Given the description of an element on the screen output the (x, y) to click on. 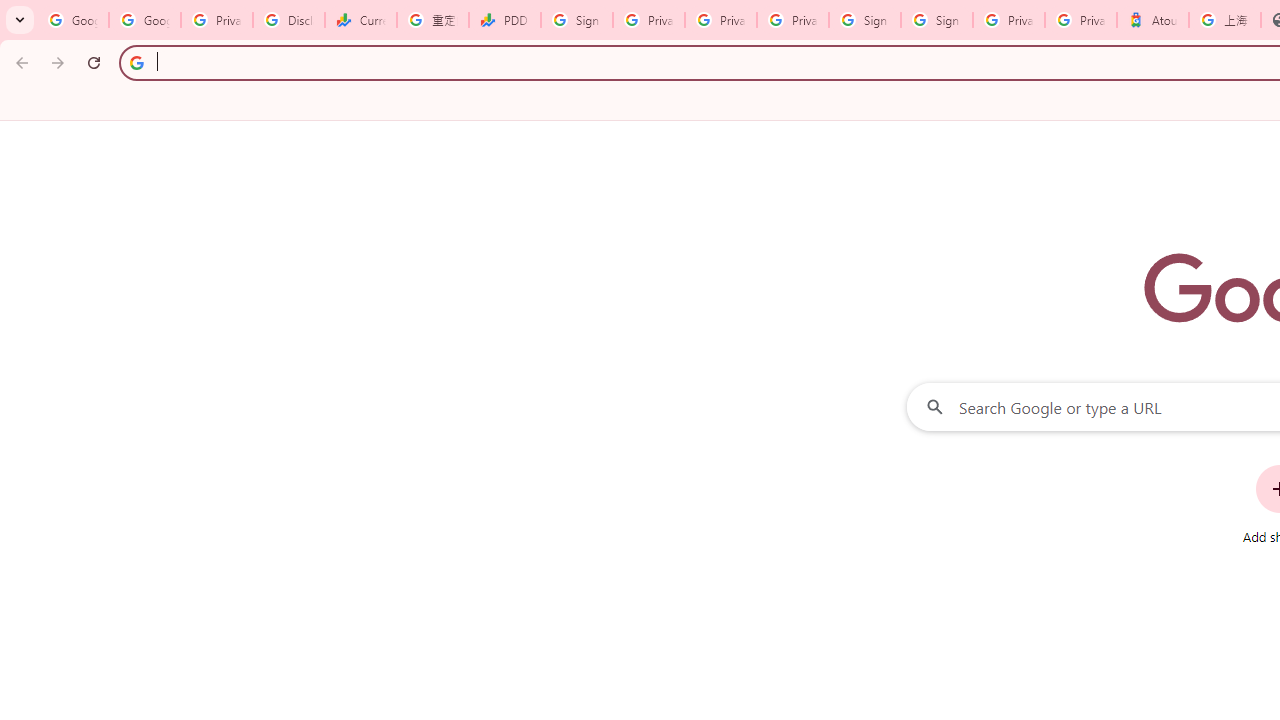
Atour Hotel - Google hotels (1153, 20)
Privacy Checkup (720, 20)
PDD Holdings Inc - ADR (PDD) Price & News - Google Finance (504, 20)
Sign in - Google Accounts (865, 20)
